Given the description of an element on the screen output the (x, y) to click on. 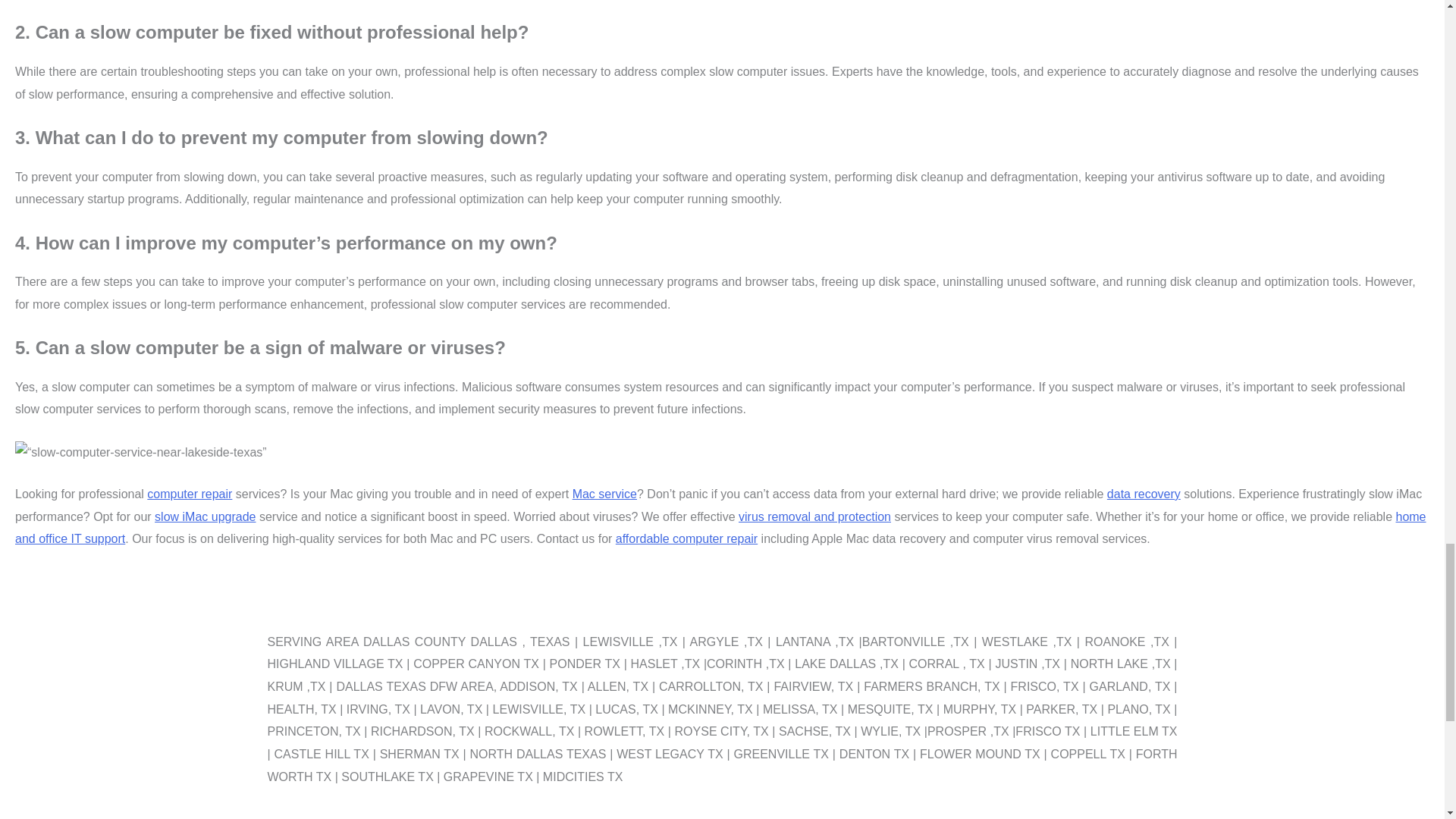
home and office IT support (720, 528)
virus removal and protection (814, 516)
affordable computer repair (686, 538)
data recovery (1143, 493)
slow iMac upgrade (205, 516)
Mac service (604, 493)
computer repair (189, 493)
